Given the description of an element on the screen output the (x, y) to click on. 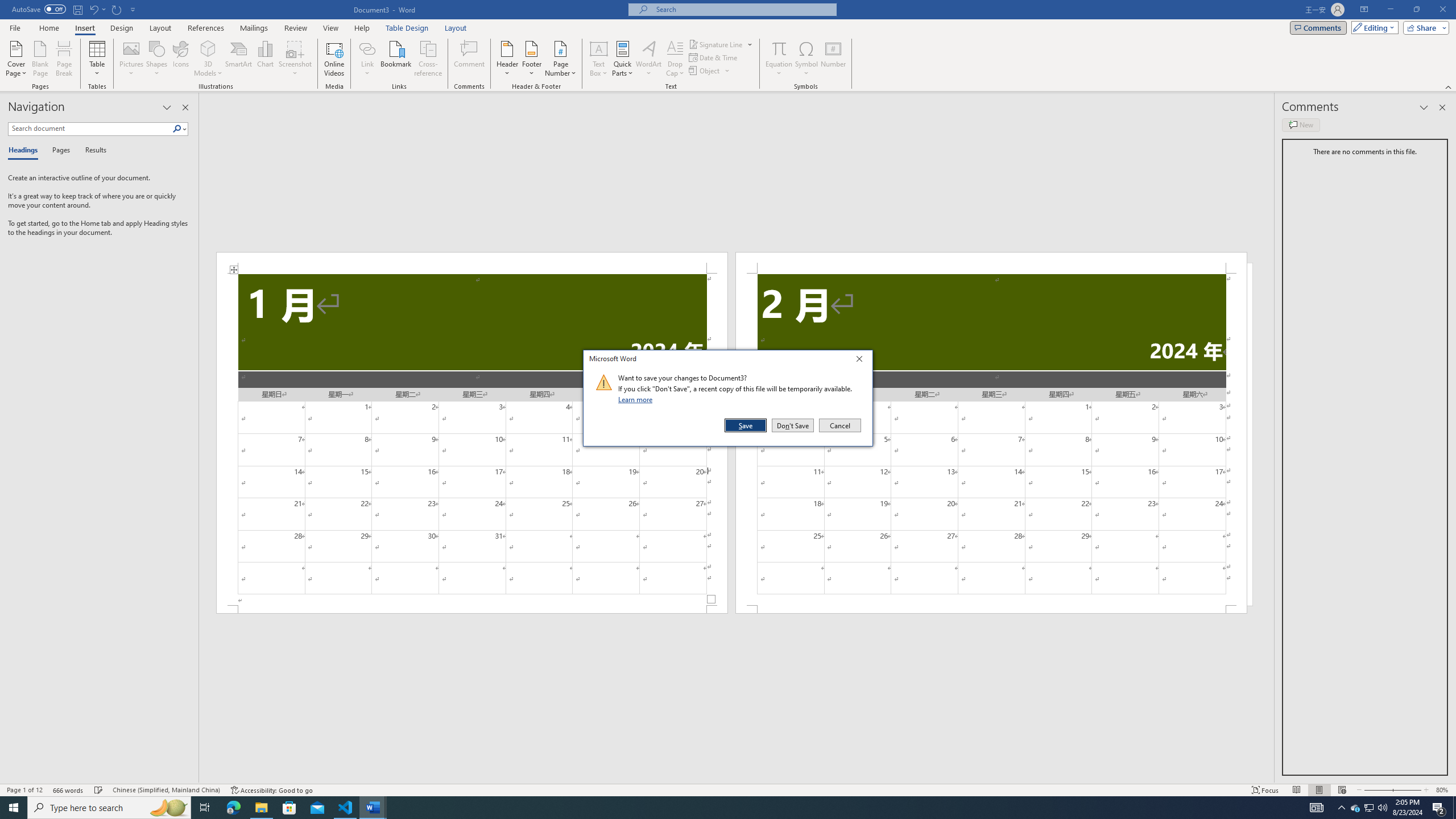
3D Models (208, 48)
Word - 2 running windows (373, 807)
Repeat Doc Close (117, 9)
Action Center, 2 new notifications (1439, 807)
Undo Increase Indent (92, 9)
Blank Page (40, 58)
Signature Line (716, 44)
Object... (705, 69)
New comment (1300, 124)
